Given the description of an element on the screen output the (x, y) to click on. 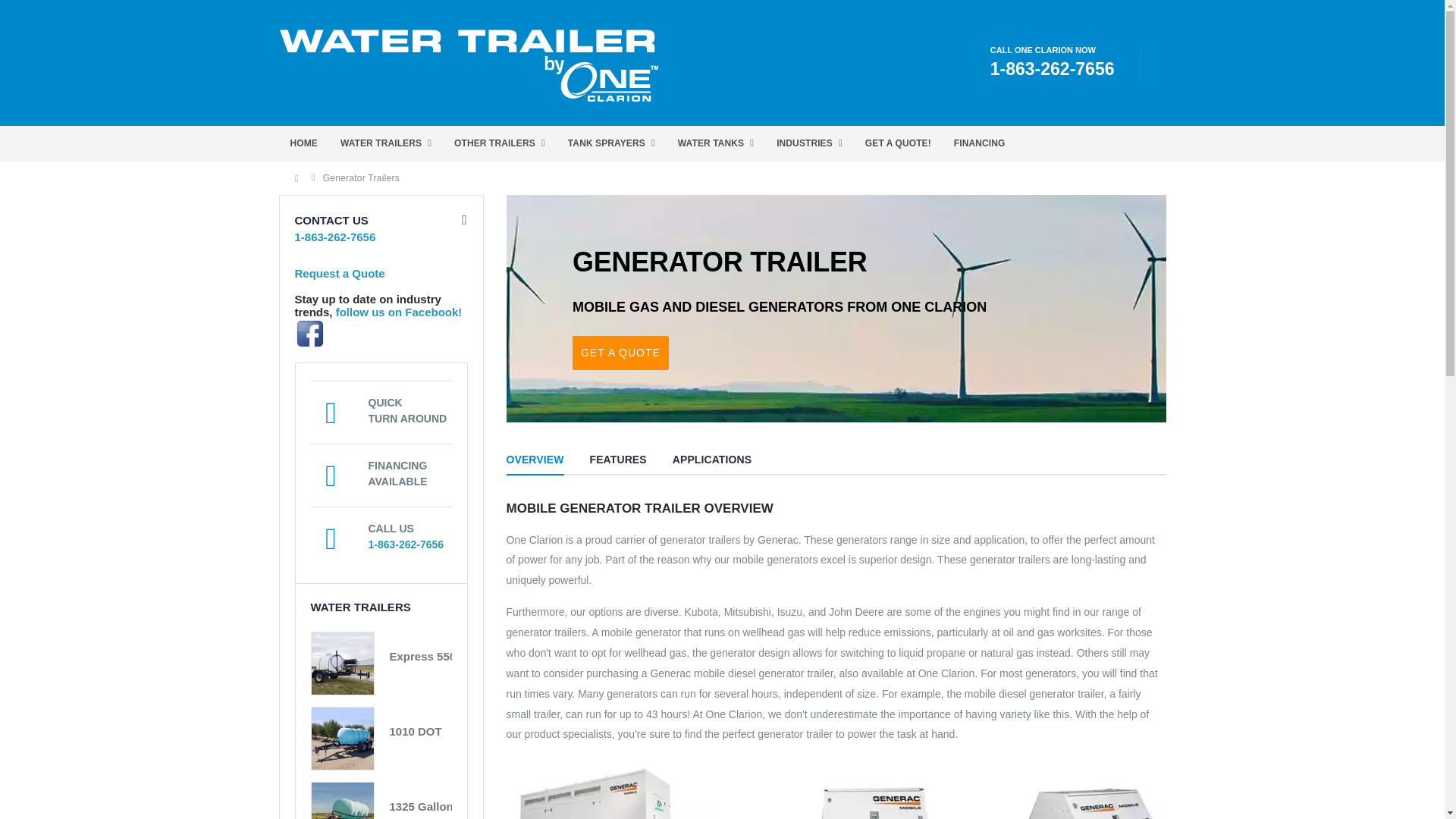
1-863-262-7656 (1052, 70)
OTHER TRAILERS (499, 143)
WATER TANKS (715, 143)
Follow us! (399, 311)
Request a Quote (339, 273)
TANK SPRAYERS (611, 143)
Follow us! (380, 333)
WATER TRAILERS (385, 143)
HOME (304, 143)
